Given the description of an element on the screen output the (x, y) to click on. 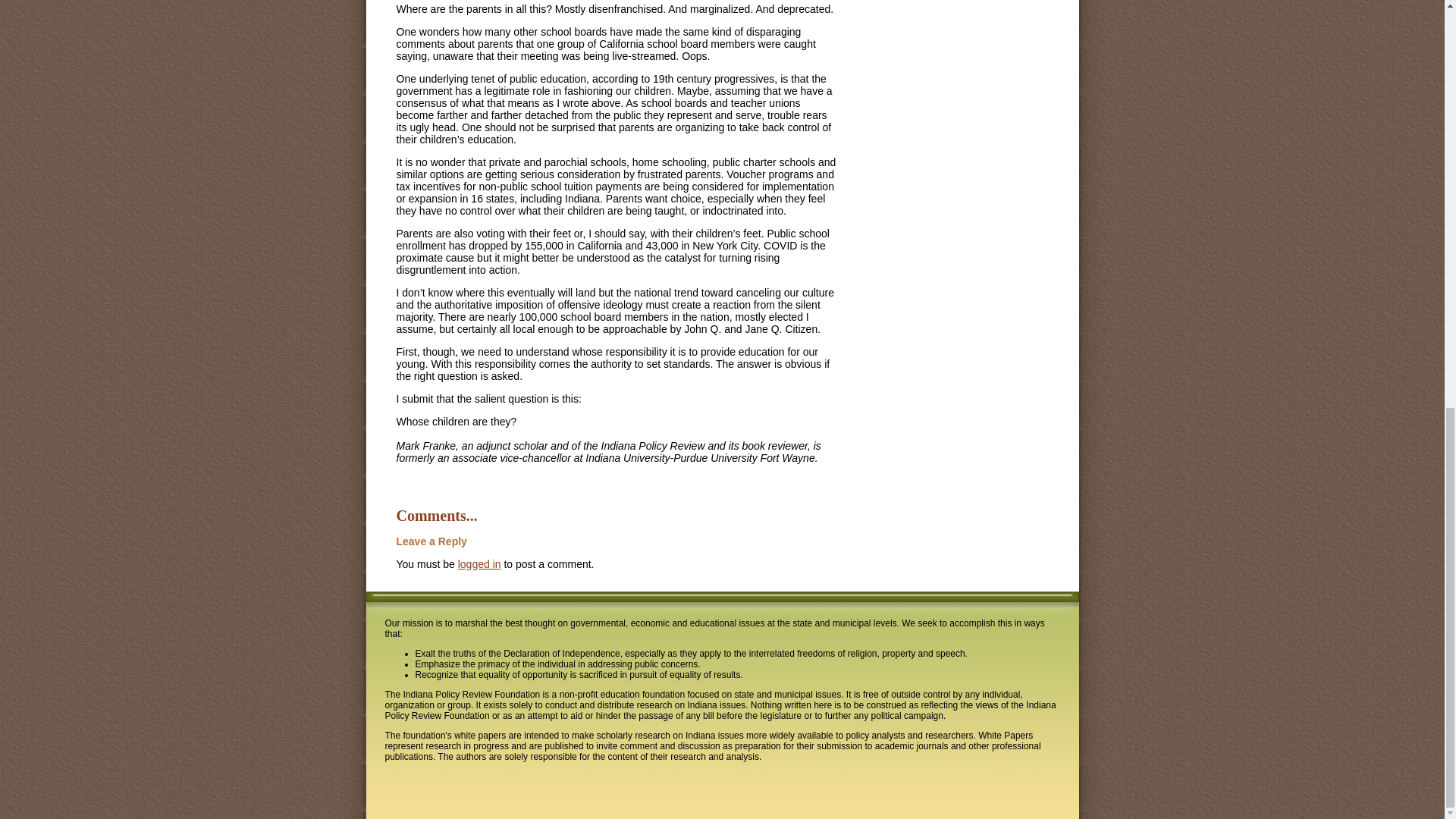
logged in (479, 563)
